Given the description of an element on the screen output the (x, y) to click on. 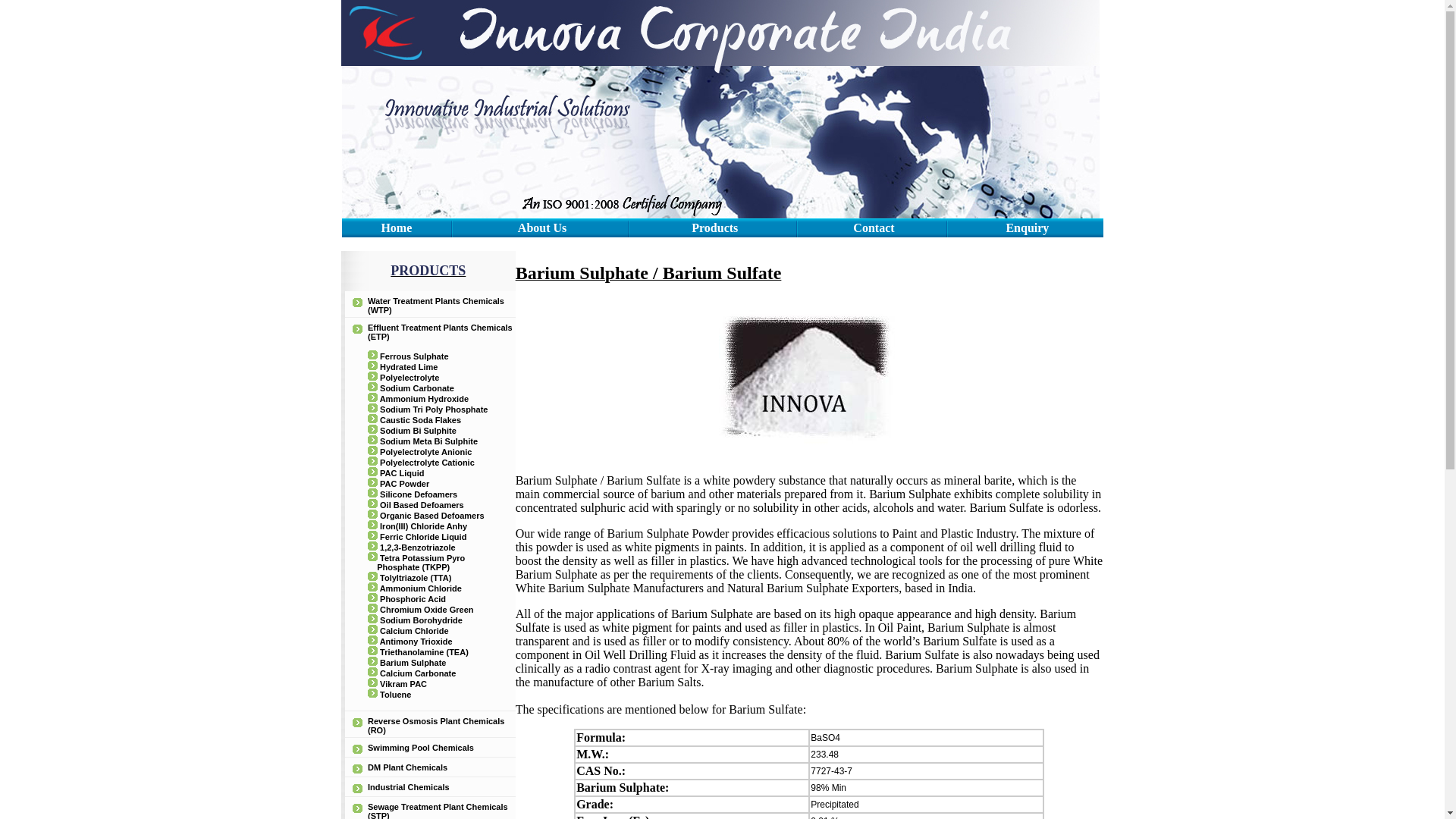
Barium Sulphate (412, 662)
Organic Based Defoamers (432, 515)
Products (714, 227)
Hydrated Lime (409, 366)
Polyelectrolyte Cationic (427, 461)
Silicone Defoamers (418, 493)
Phosphoric Acid (412, 598)
Ferric Chloride Liquid (422, 536)
Sodium Tri Poly Phosphate (433, 409)
Ferrous Sulphate (414, 356)
About Us (542, 227)
Oil Based Defoamers (422, 504)
PAC Powder (404, 483)
Home (396, 227)
Ammonium Hydroxide (424, 398)
